Given the description of an element on the screen output the (x, y) to click on. 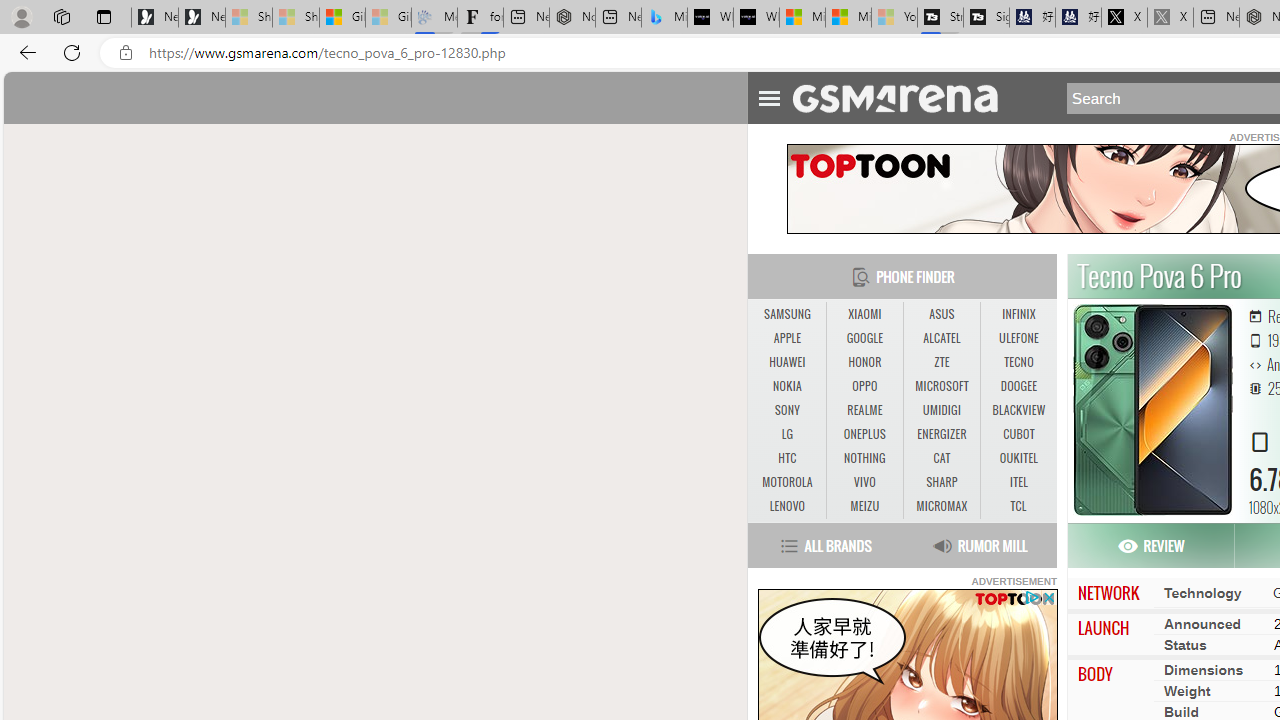
LENOVO (786, 506)
ITEL (1018, 483)
LENOVO (786, 506)
Status (1185, 644)
Class: privacy_out (1030, 596)
Dimensions (1203, 669)
CAT (941, 458)
NOTHING (864, 458)
HUAWEI (786, 362)
What's the best AI voice generator? - voice.ai (756, 17)
HTC (786, 458)
APPLE (786, 339)
MICROMAX (941, 506)
ULEFONE (1018, 338)
